Given the description of an element on the screen output the (x, y) to click on. 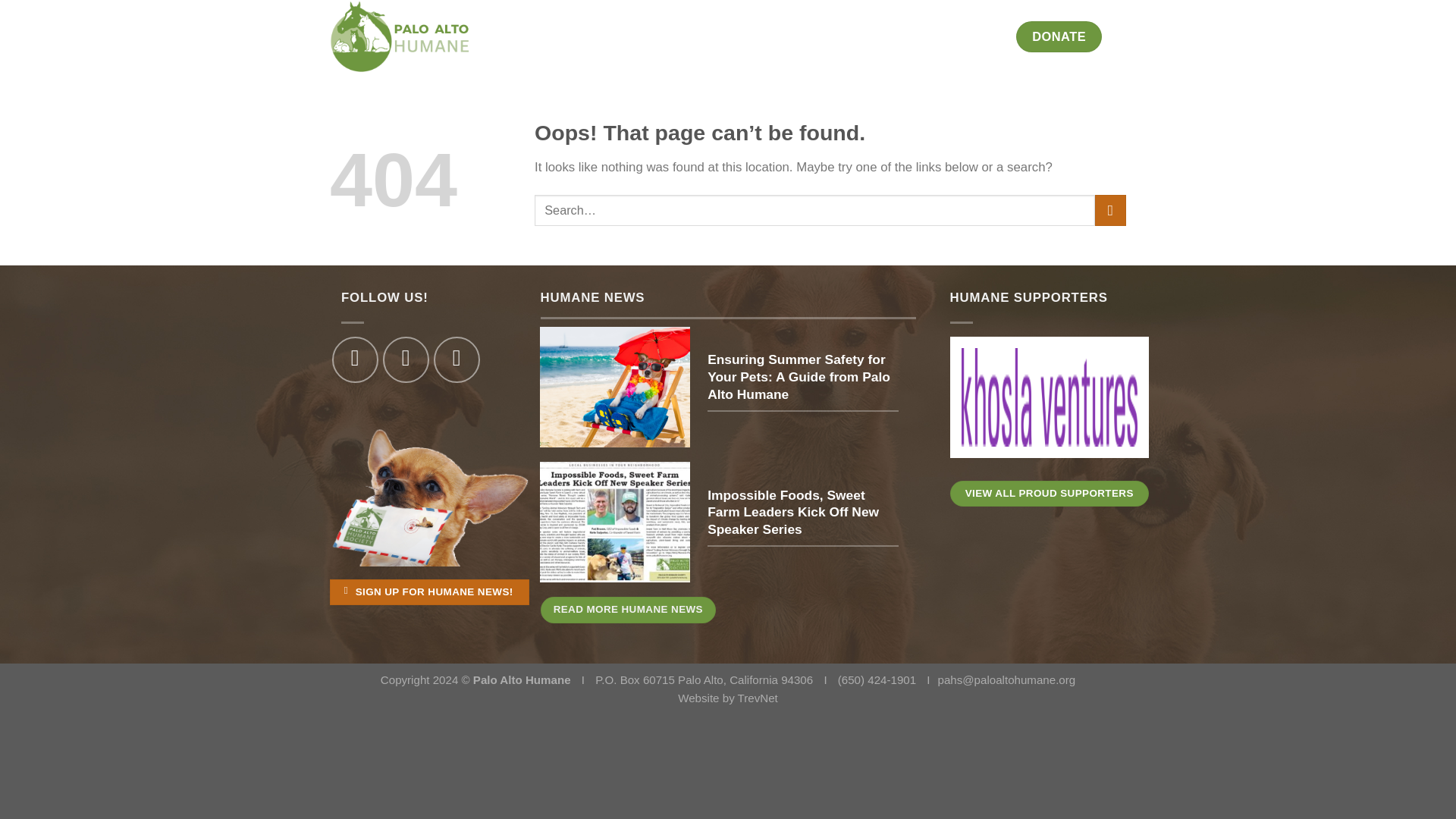
Follow on Facebook (354, 359)
PROGRAMS (712, 36)
DONATE (1058, 36)
RESOURCES (802, 36)
Palo Alto Humane - Creating Compassionate Communities. (420, 36)
SIGN UP FOR HUMANE NEWS! (429, 592)
ABOUT (638, 36)
NEWS (929, 35)
GIVING (981, 36)
EVENTS (877, 35)
Follow on Twitter (405, 359)
Follow on YouTube (456, 359)
